Given the description of an element on the screen output the (x, y) to click on. 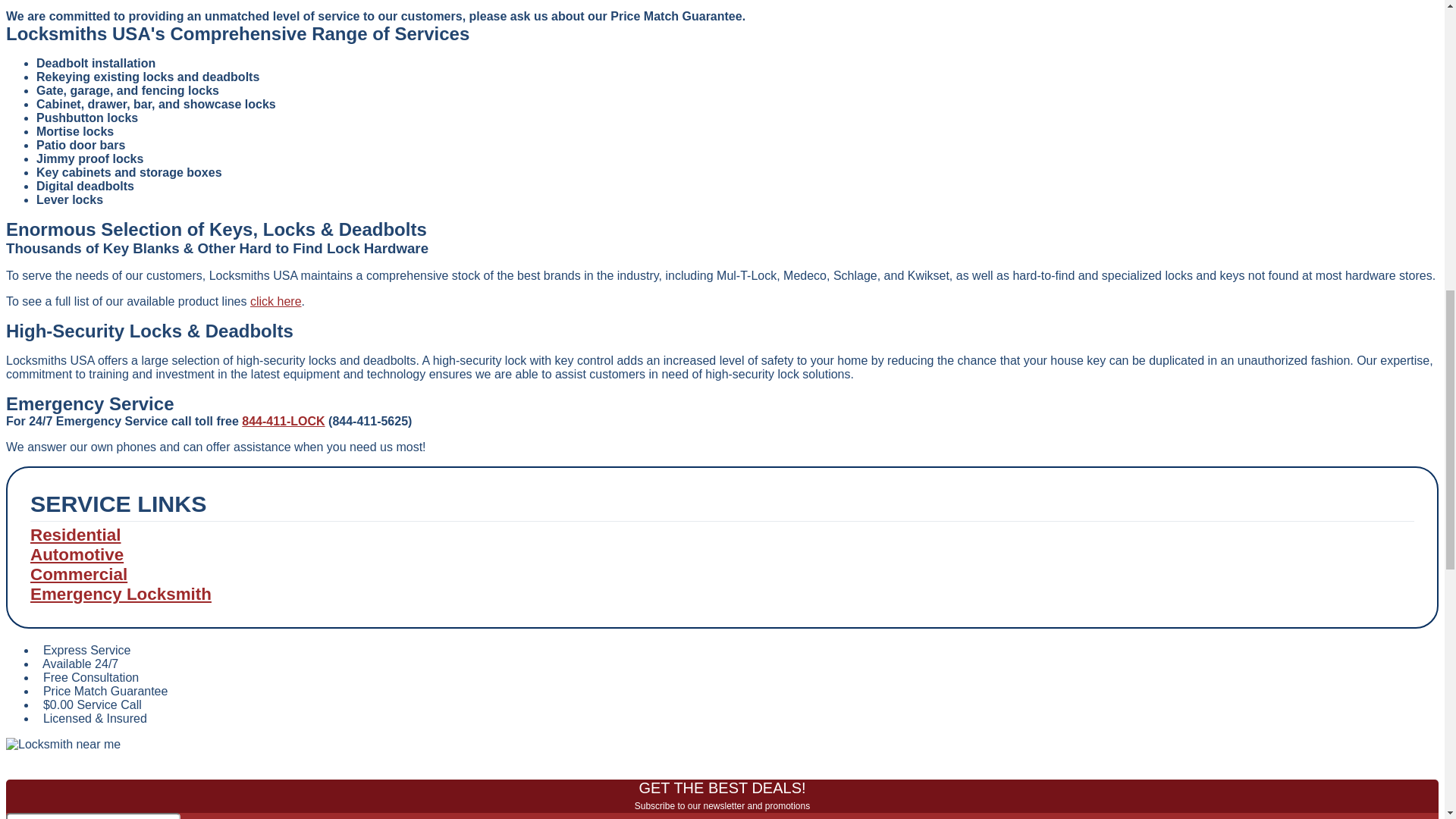
Commercial (79, 574)
Residential (75, 534)
Automotive (76, 554)
Locksmiths USA (62, 744)
Emergency Locksmith (120, 593)
844-411-LOCK (282, 420)
click here (275, 300)
